Given the description of an element on the screen output the (x, y) to click on. 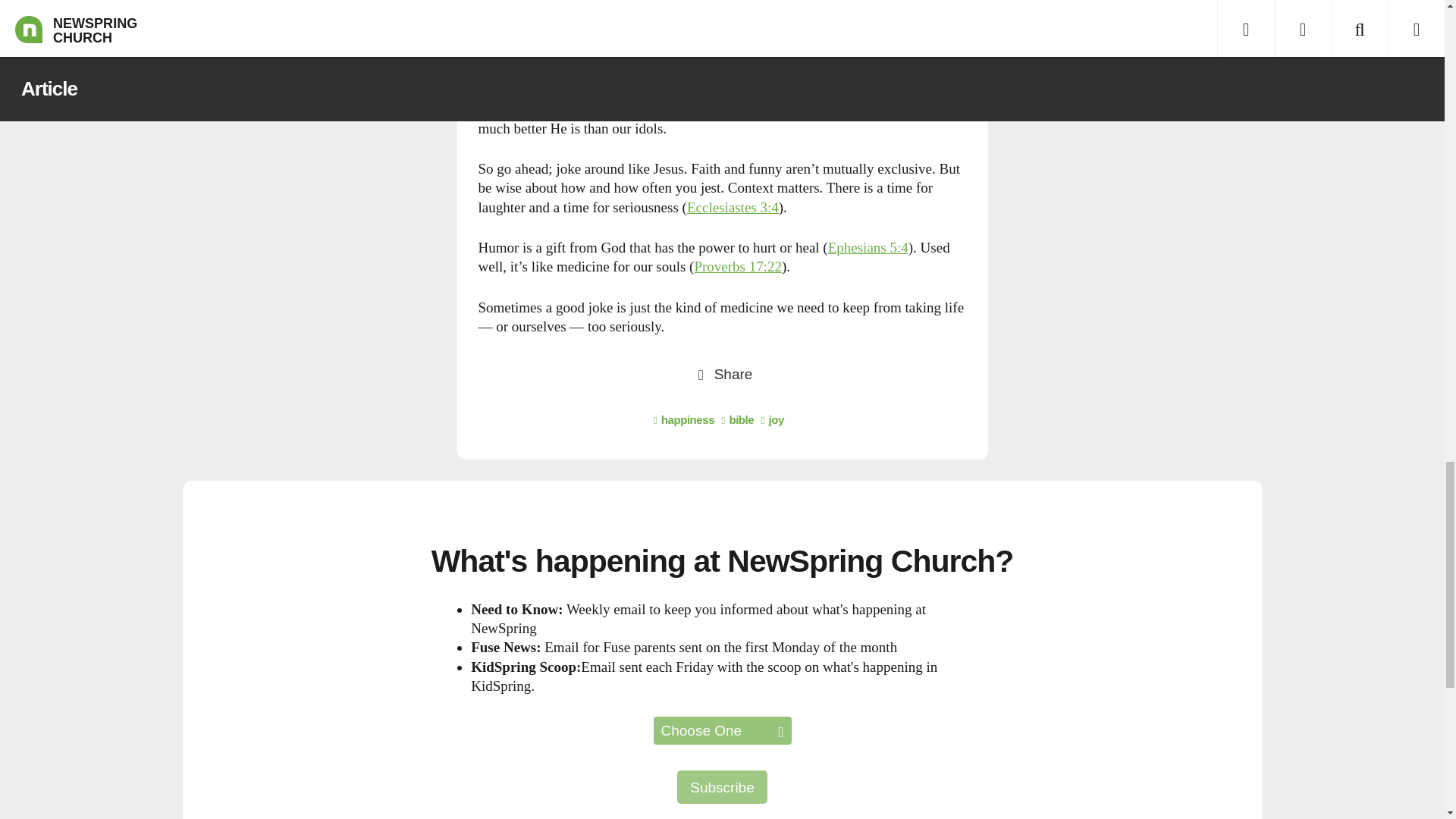
Subscribe (722, 786)
bible (737, 419)
Bible Gateway (737, 266)
Bible Gateway (732, 207)
Proverbs 17:22 (737, 266)
Ephesians 5:4 (868, 247)
Bible Gateway (868, 247)
Ecclesiastes 3:4 (732, 207)
Share (721, 373)
joy (772, 419)
